Given the description of an element on the screen output the (x, y) to click on. 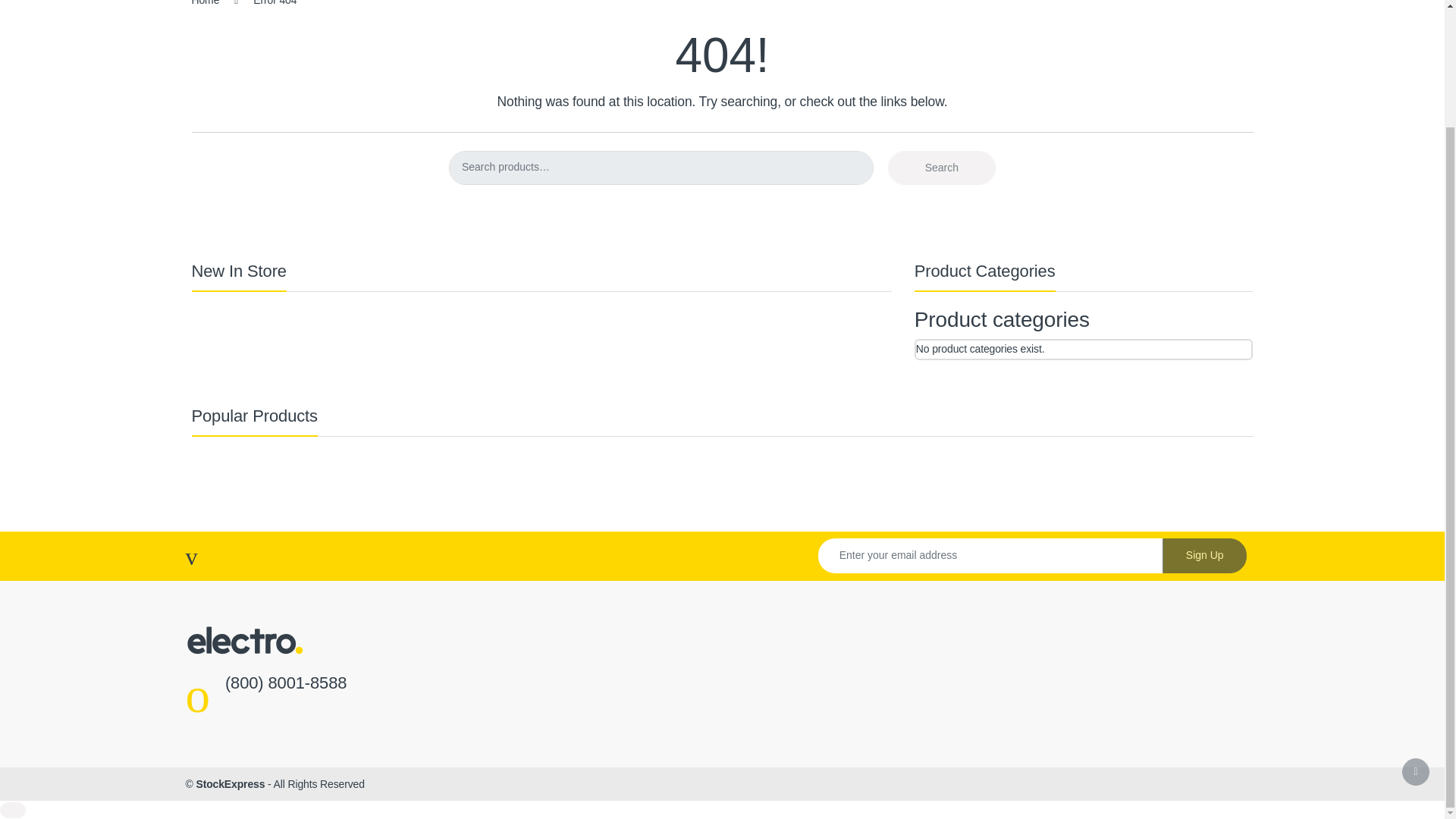
Search (941, 167)
Sign Up (1204, 555)
StockExpress (229, 784)
Home (204, 2)
